Given the description of an element on the screen output the (x, y) to click on. 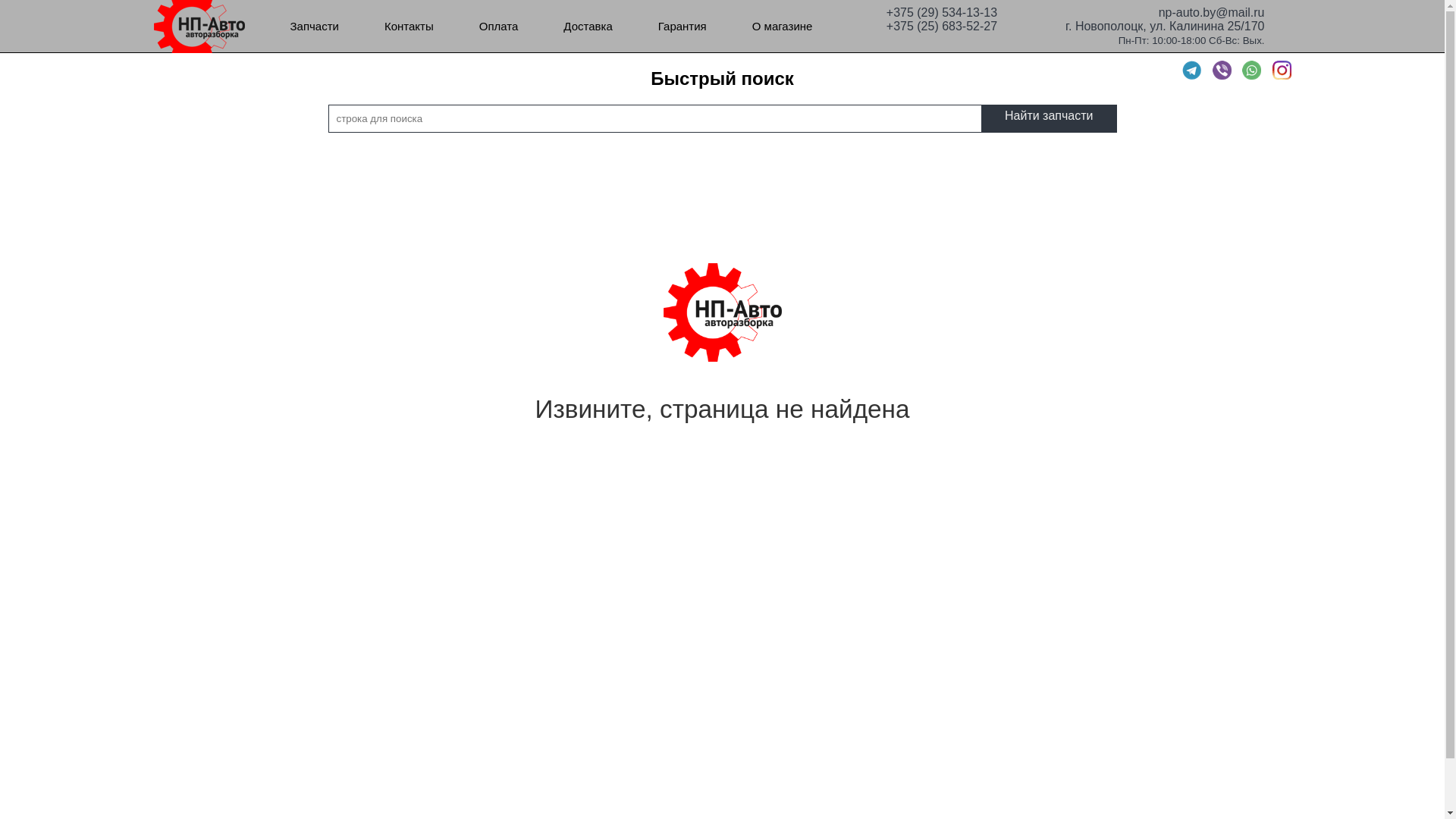
+375 (25) 683-52-27 Element type: text (941, 24)
np-auto.by@mail.ru Element type: text (1164, 10)
+375 (29) 534-13-13 Element type: text (941, 10)
